Given the description of an element on the screen output the (x, y) to click on. 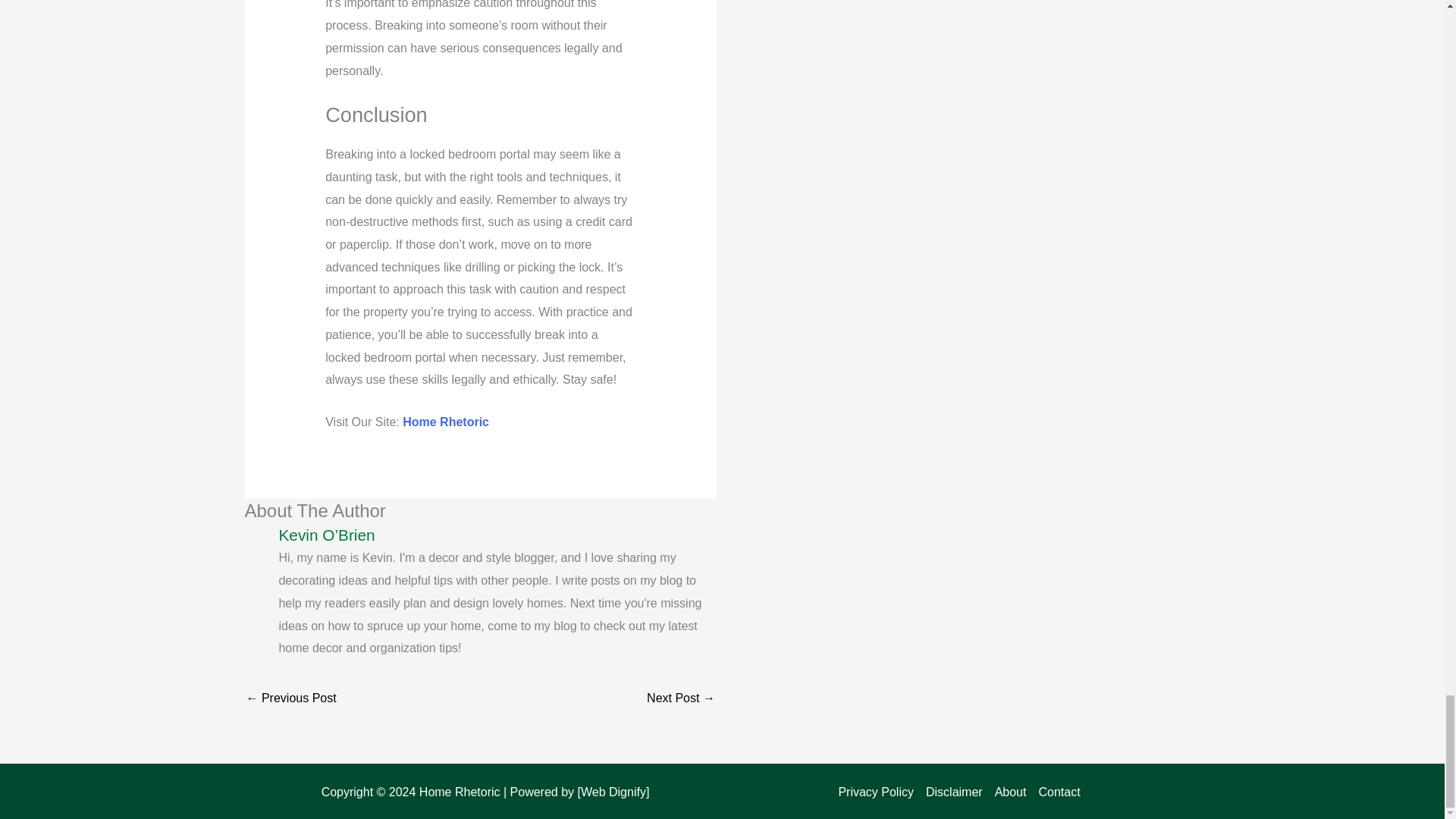
Flooring Ideas for Master Bedroom (291, 699)
Home Rhetoric (446, 421)
